Given the description of an element on the screen output the (x, y) to click on. 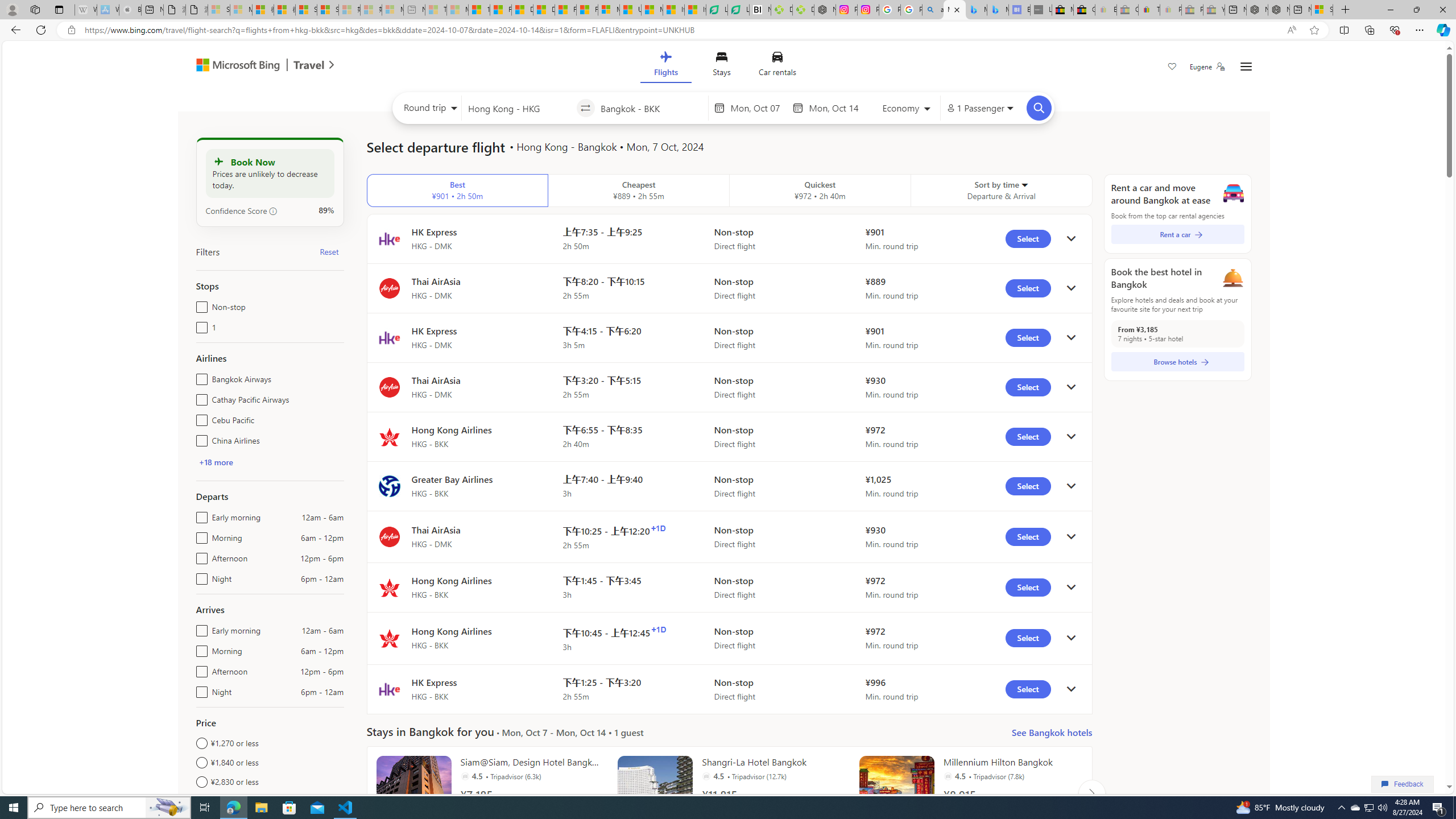
Info tooltip (273, 211)
Tripadvisor (947, 775)
Swap source and destination (585, 108)
Start Date (758, 107)
Microsoft Bing Travel - Shangri-La Hotel Bangkok (997, 9)
Leaving from? (518, 107)
Non-stop (199, 304)
LendingTree - Compare Lenders (738, 9)
